Given the description of an element on the screen output the (x, y) to click on. 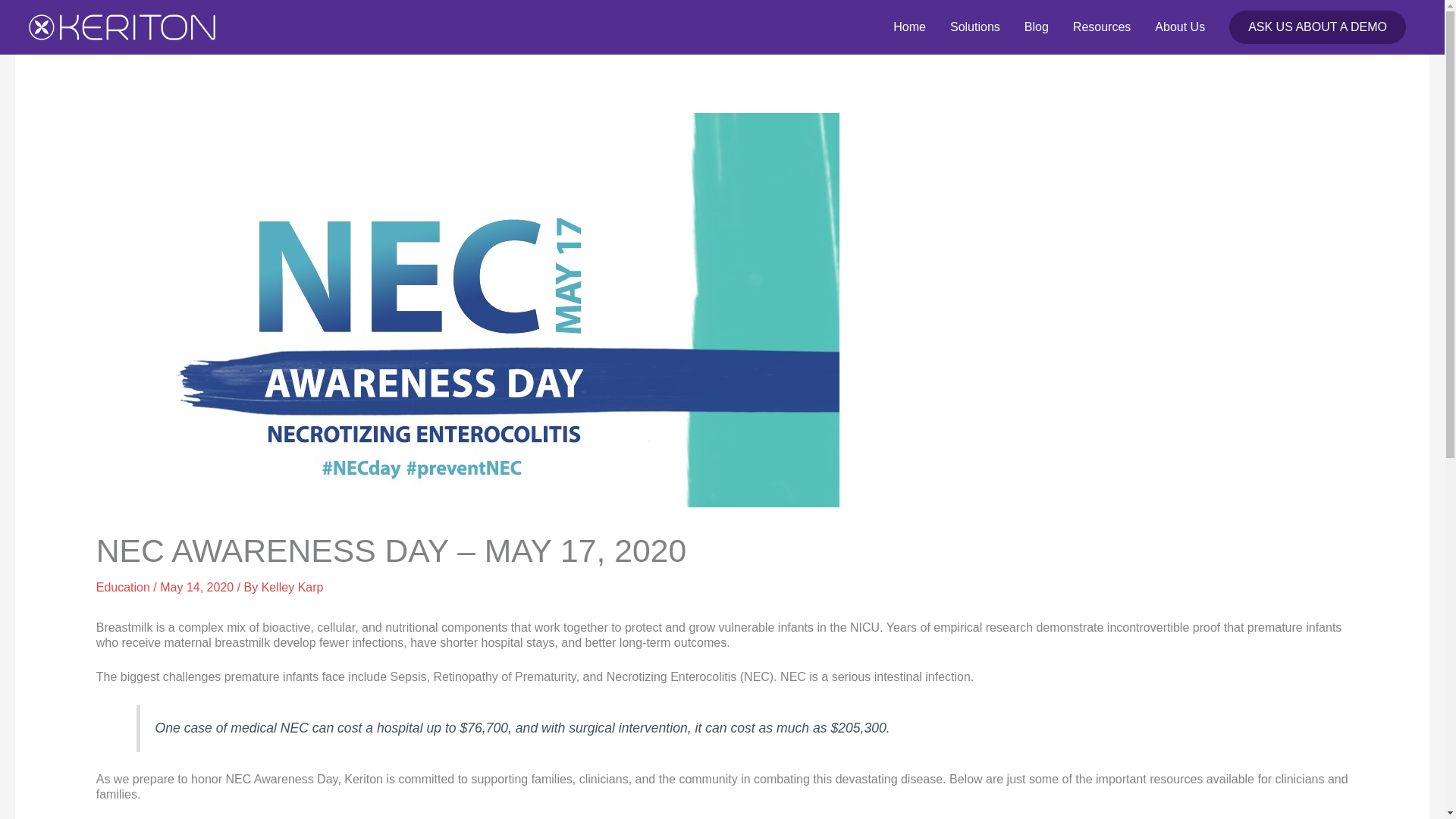
Kelley Karp (292, 586)
Solutions (974, 27)
View all posts by Kelley Karp (292, 586)
About Us (1179, 27)
Home (908, 27)
ASK US ABOUT A DEMO (1317, 27)
Resources (1101, 27)
Education (122, 586)
Blog (1036, 27)
